Given the description of an element on the screen output the (x, y) to click on. 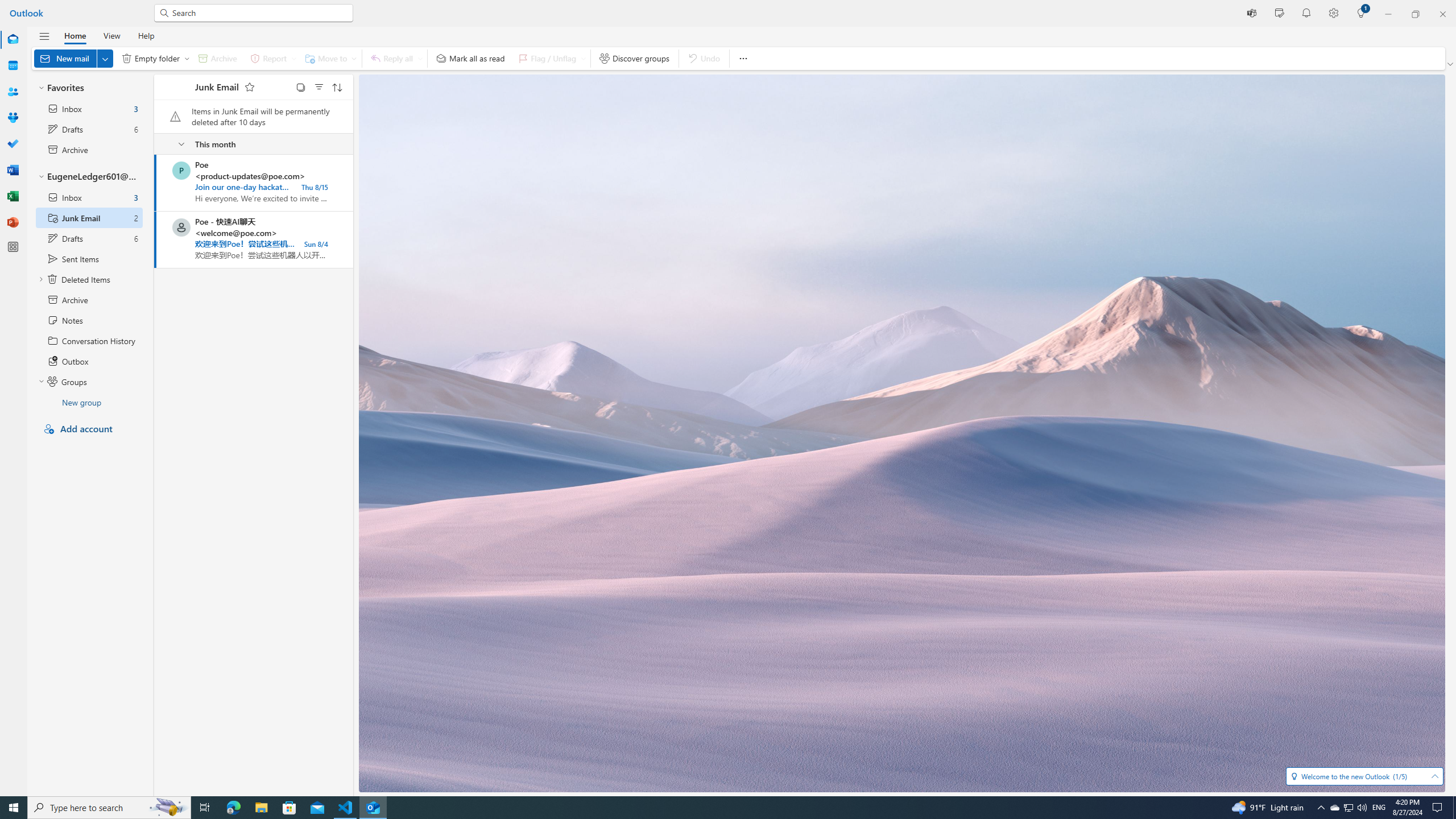
Outbox (89, 360)
Excel (12, 196)
Hide navigation pane (44, 36)
Flag / Unflag (549, 58)
View (111, 35)
Conversation History (89, 340)
Discover groups (633, 58)
Search for email, meetings, files and more. (258, 12)
Outlook (new) - 1 running window (373, 807)
System (6, 6)
Reply all (394, 58)
